Given the description of an element on the screen output the (x, y) to click on. 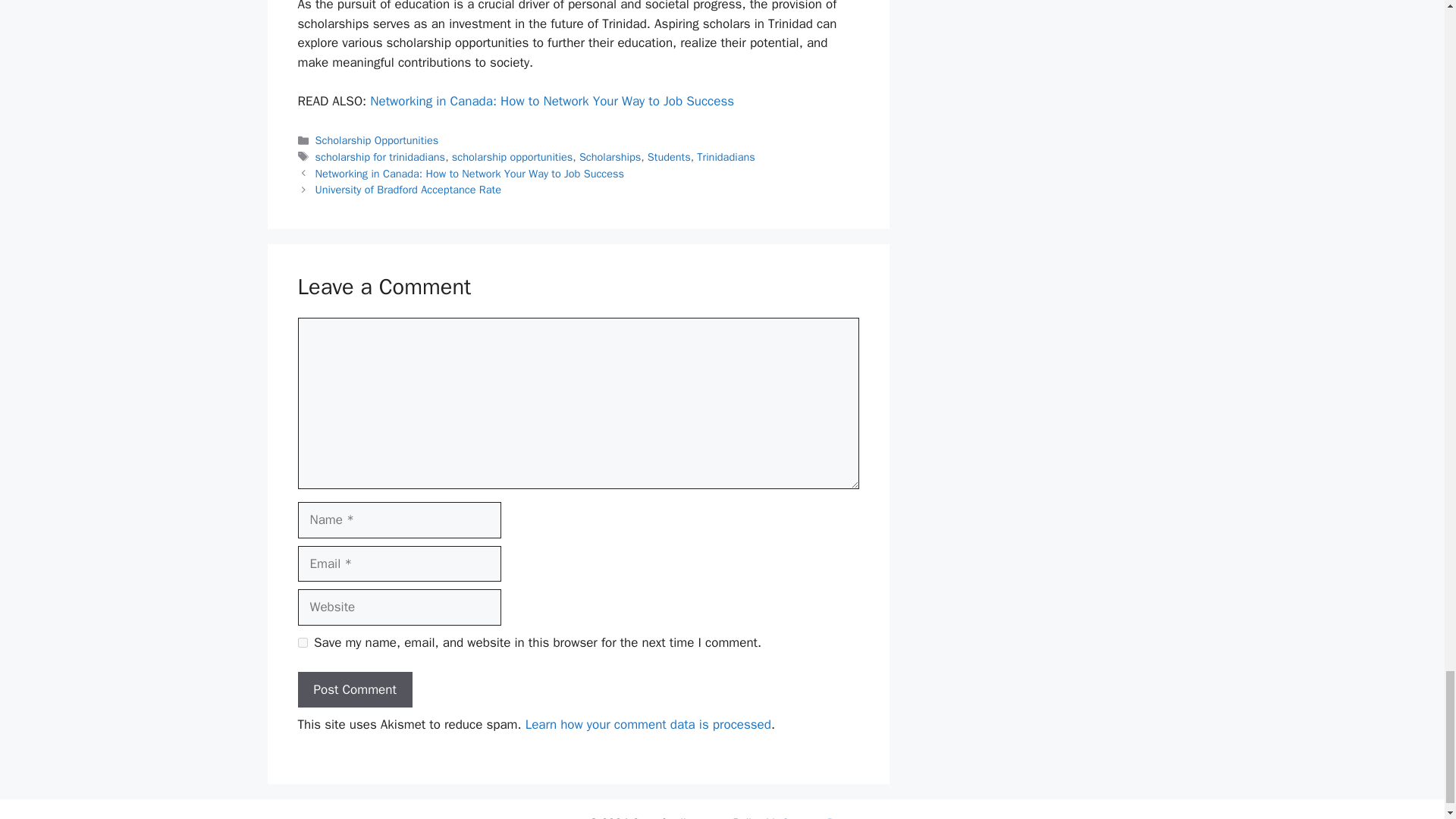
GeneratePress (818, 817)
scholarship for trinidadians (380, 156)
Trinidadians (725, 156)
scholarship opportunities (511, 156)
University of Bradford Acceptance Rate (407, 189)
Networking in Canada: How to Network Your Way to Job Success (469, 173)
Scholarship Opportunities (377, 140)
yes (302, 642)
Students (668, 156)
Scholarships (609, 156)
